Given the description of an element on the screen output the (x, y) to click on. 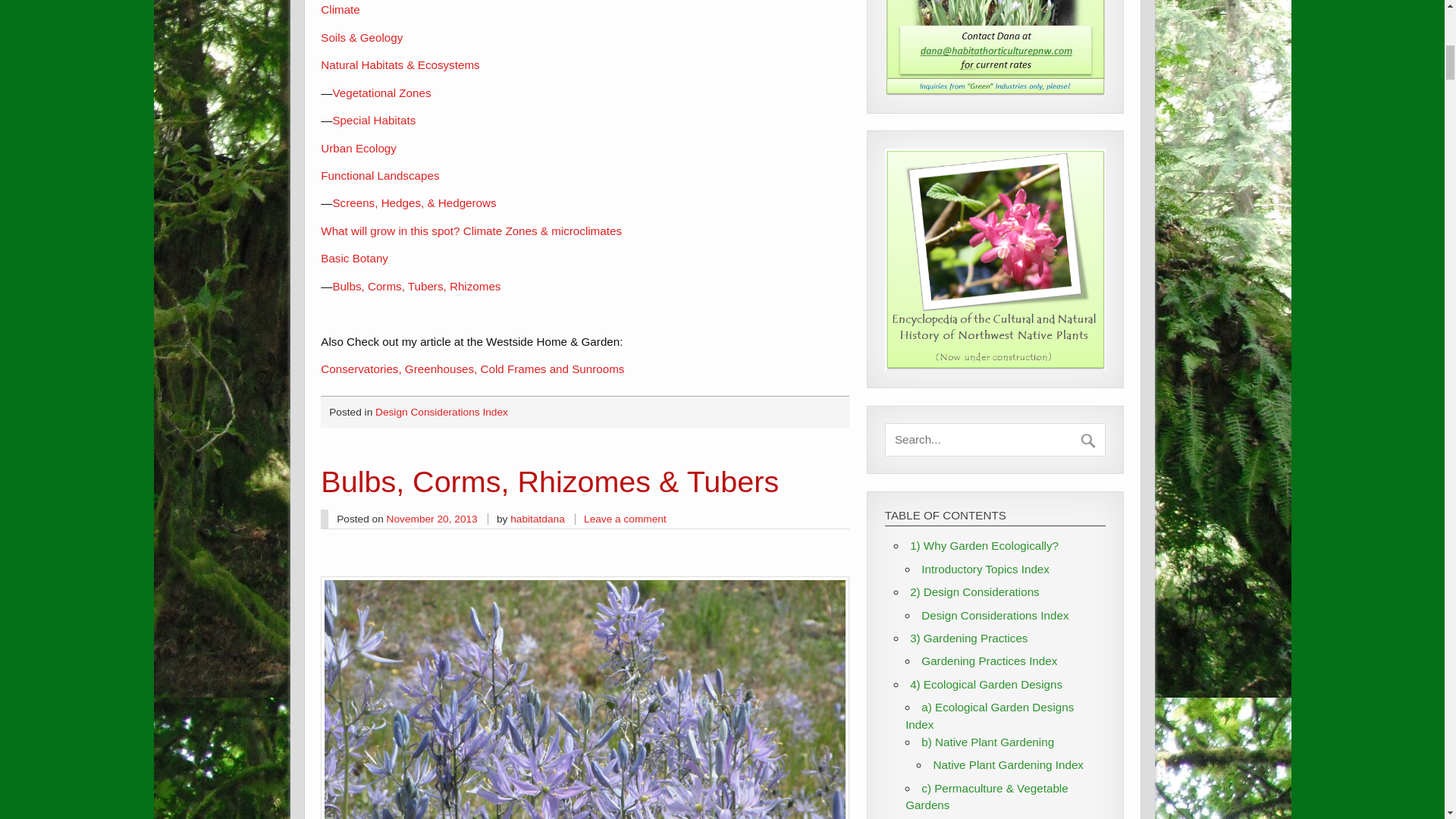
November 20, 2013 (432, 518)
habitatdana (537, 518)
View all posts by habitatdana (537, 518)
Leave a comment (624, 518)
Climate (339, 9)
Special Habitats (372, 119)
Urban Ecology (358, 147)
Design Considerations Index (441, 411)
Bulbs, Corms, Tubers, Rhizomes (415, 286)
Basic Botany (354, 257)
Functional Landscapes (379, 174)
Conservatories, Greenhouses, Cold Frames and Sunrooms (472, 368)
Vegetational Zones (380, 92)
10:59 AM (432, 518)
